Given the description of an element on the screen output the (x, y) to click on. 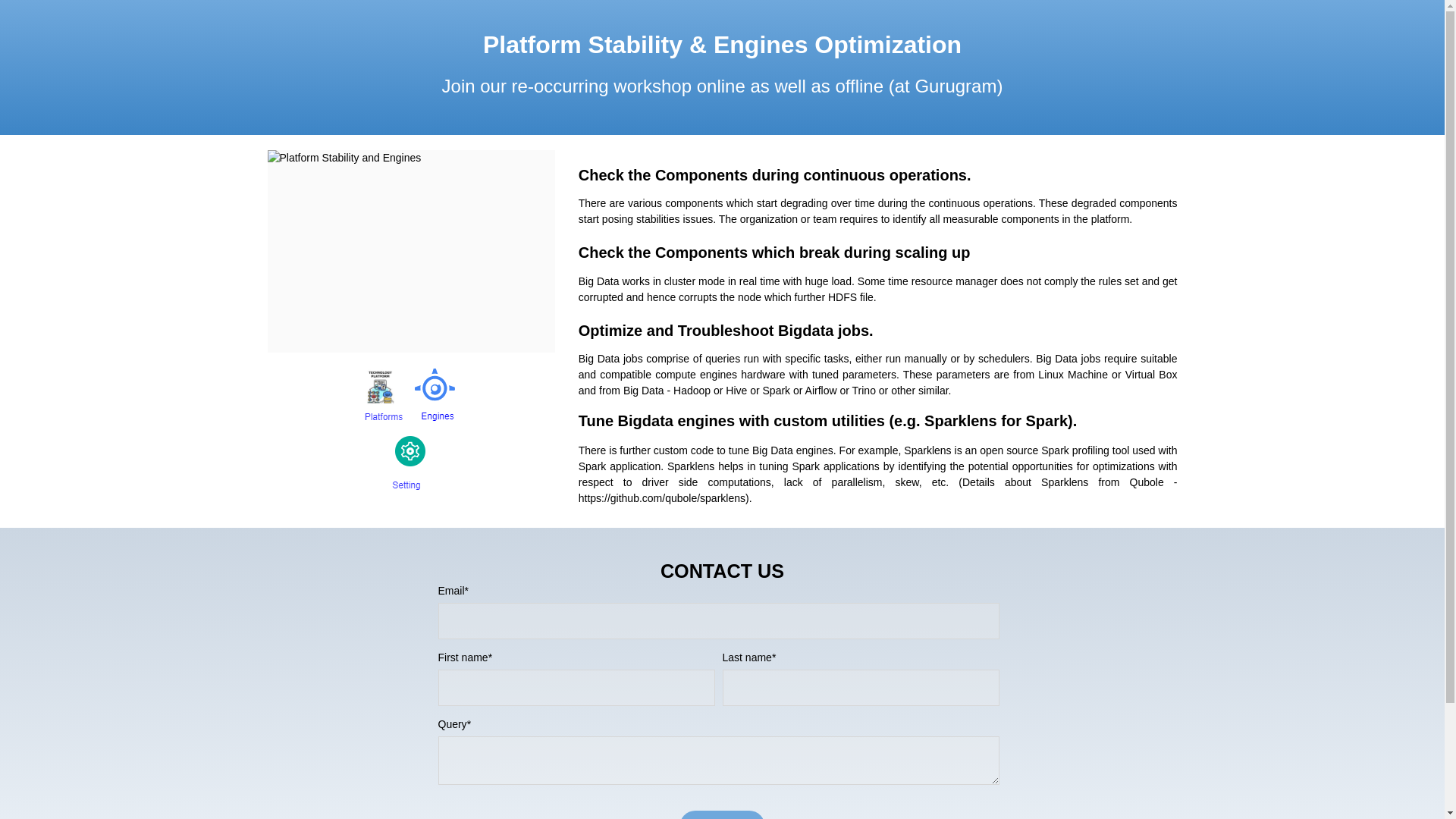
Submit (722, 814)
Submit (722, 814)
Platform Stability and Engines (410, 250)
